Given the description of an element on the screen output the (x, y) to click on. 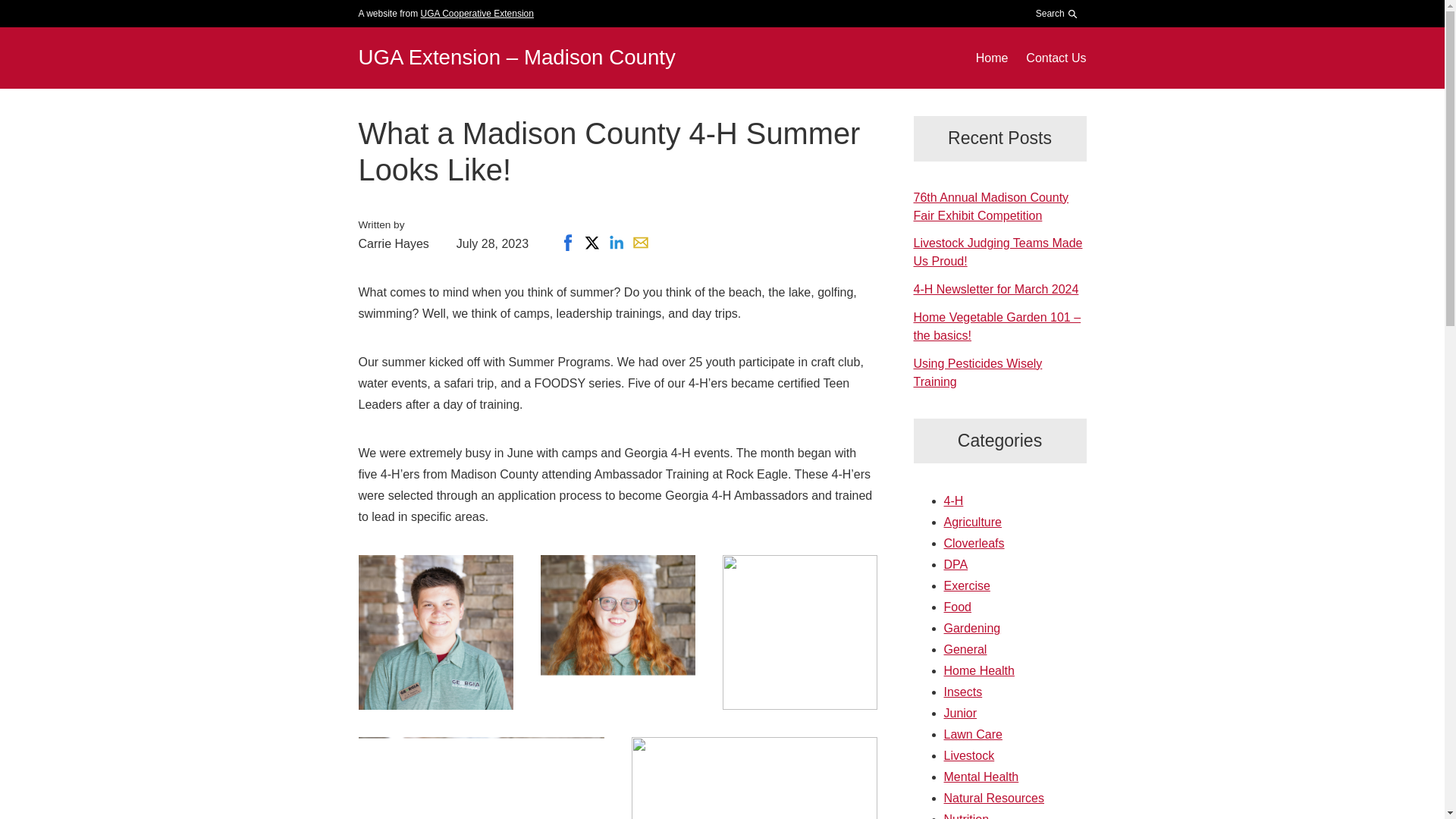
4-H (952, 500)
Mental Health (980, 776)
76th Annual Madison County Fair Exhibit Competition (990, 205)
DPA (955, 563)
Cloverleafs (973, 543)
Exercise (966, 585)
Search (1056, 13)
Livestock Judging Teams Made Us Proud! (996, 251)
Agriculture (972, 521)
Share on X, opens in new window (591, 242)
